Given the description of an element on the screen output the (x, y) to click on. 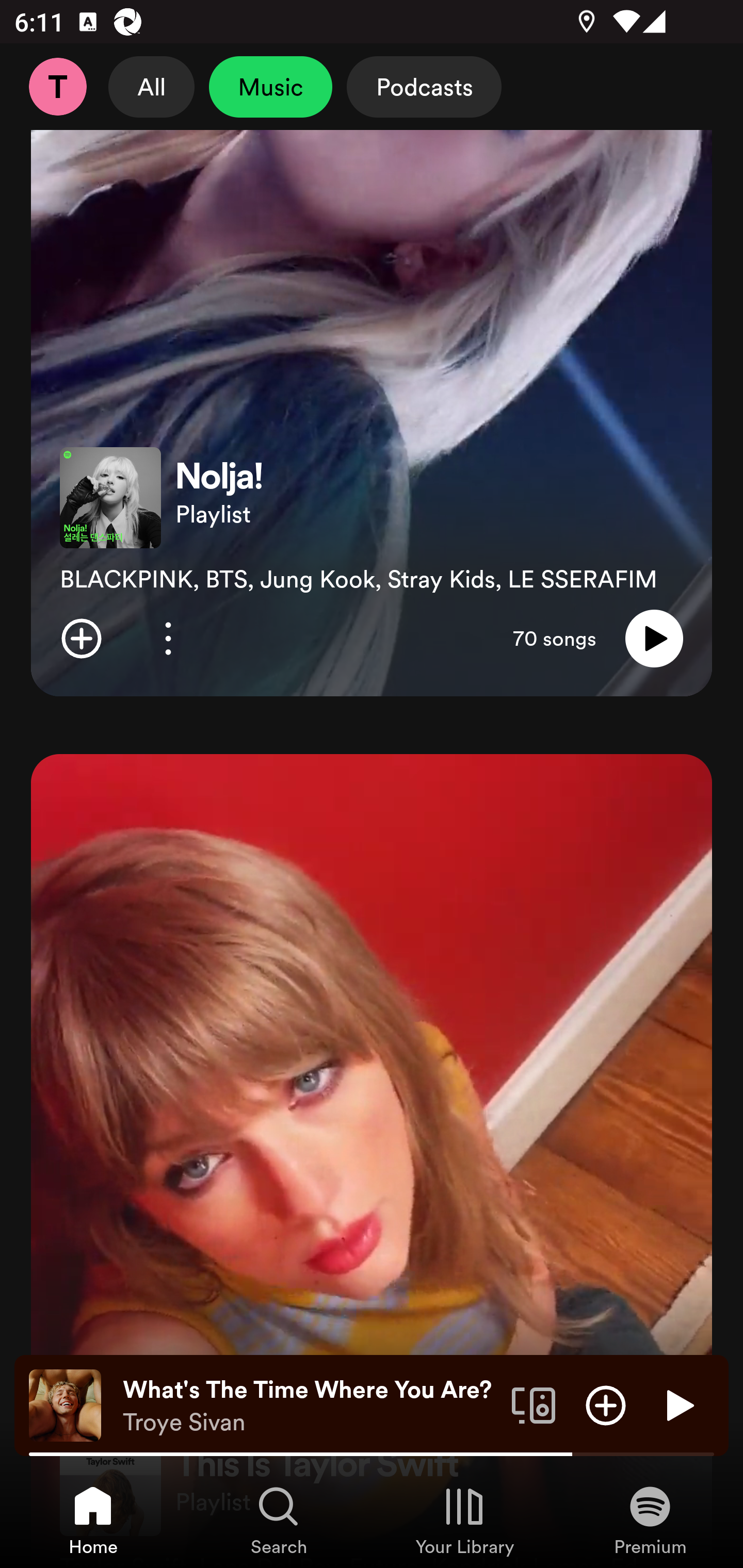
Profile (57, 86)
All Select All (151, 86)
Music Unselect Music (270, 86)
Podcasts Select Podcasts (423, 86)
Add item (80, 638)
Play (653, 638)
What's The Time Where You Are? Troye Sivan (309, 1405)
The cover art of the currently playing track (64, 1404)
Connect to a device. Opens the devices menu (533, 1404)
Add item (605, 1404)
Play (677, 1404)
Home, Tab 1 of 4 Home Home (92, 1519)
Search, Tab 2 of 4 Search Search (278, 1519)
Your Library, Tab 3 of 4 Your Library Your Library (464, 1519)
Premium, Tab 4 of 4 Premium Premium (650, 1519)
